Given the description of an element on the screen output the (x, y) to click on. 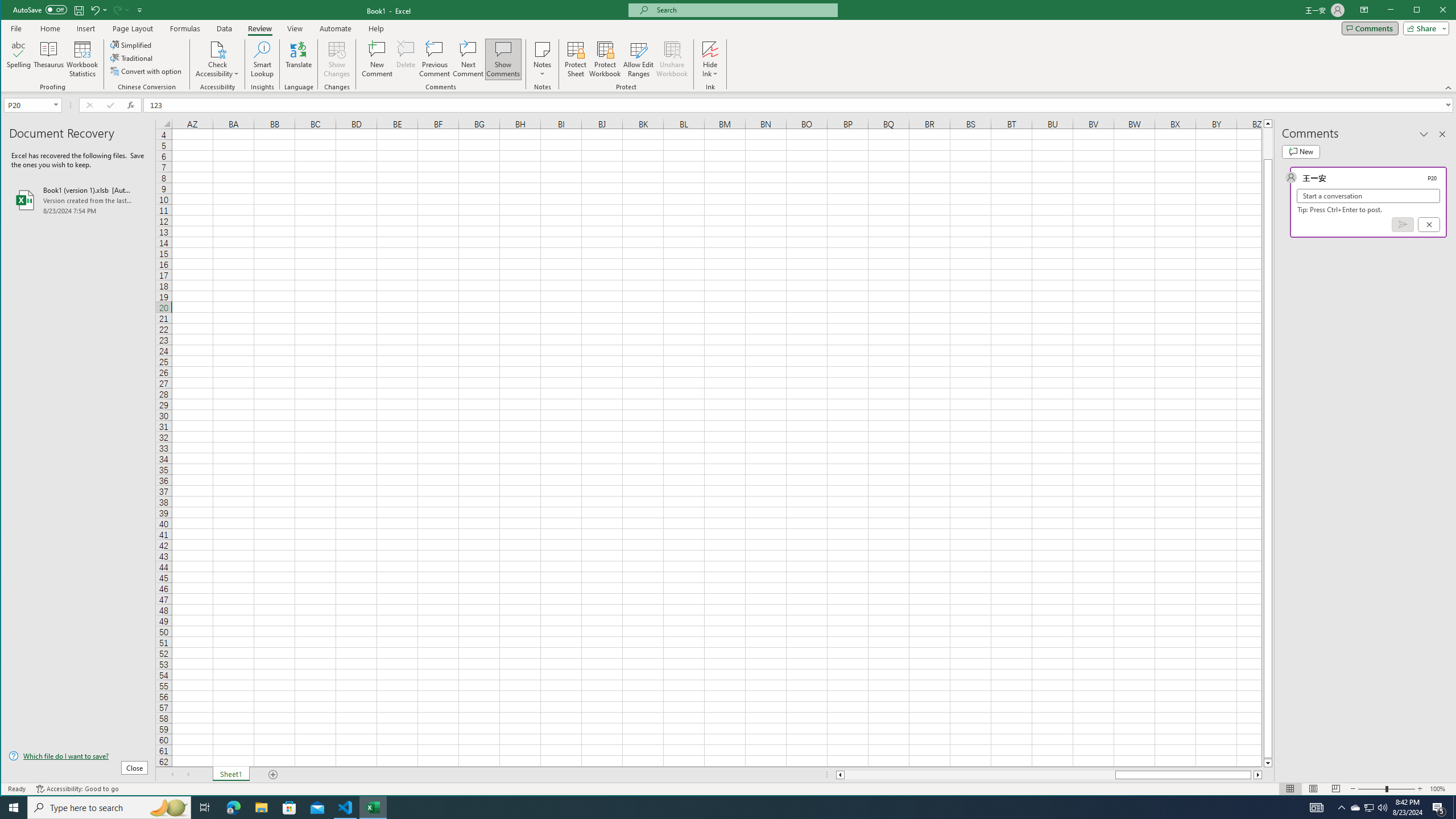
Previous Comment (434, 59)
Unshare Workbook (671, 59)
Action Center, 5 new notifications (1439, 807)
Task View (204, 807)
Show desktop (1454, 807)
Running applications (717, 807)
Start a conversation (1368, 195)
Allow Edit Ranges (638, 59)
